Given the description of an element on the screen output the (x, y) to click on. 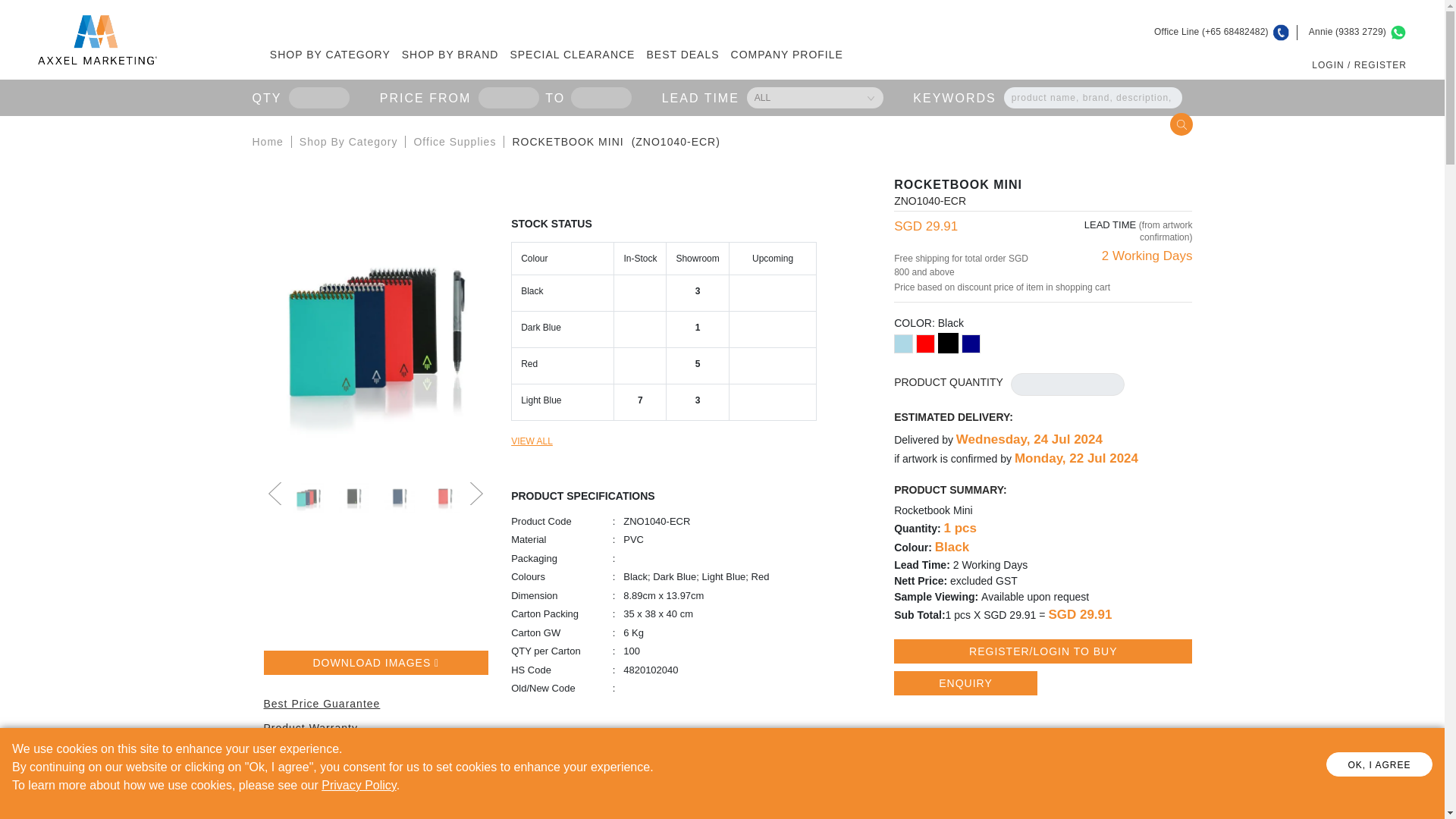
Black (947, 342)
Light Blue (902, 343)
Red (924, 343)
SHOP BY CATEGORY (335, 54)
Dark Blue (969, 343)
